Given the description of an element on the screen output the (x, y) to click on. 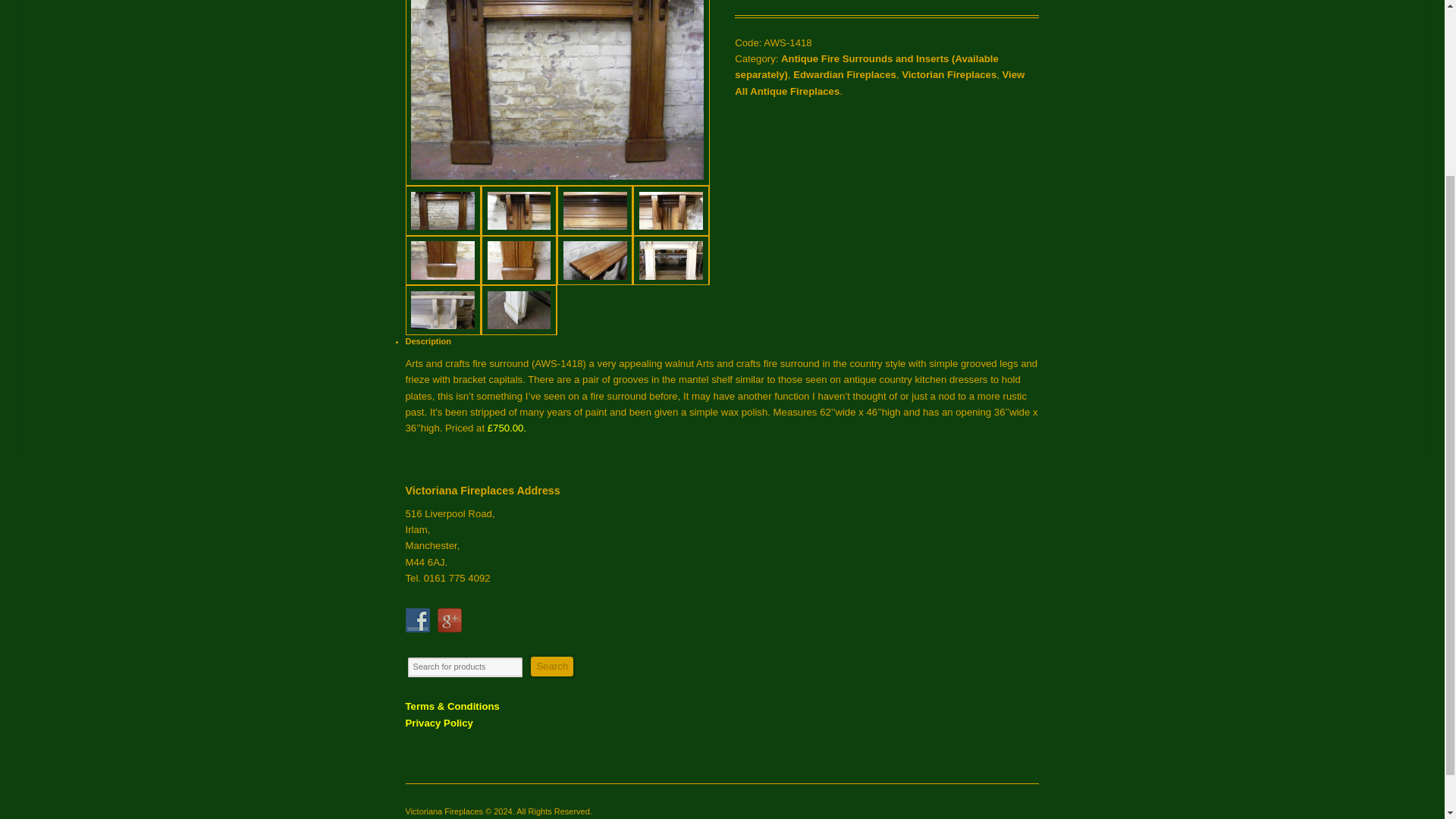
AWS-1418 (443, 210)
AWS-1418-6 (519, 260)
Search (552, 666)
 Facebook (417, 620)
View All Antique Fireplaces (880, 82)
Search (552, 666)
AWS-1418-5 (443, 260)
Description (428, 340)
AWS-1418-2 (519, 210)
Privacy Policy (439, 722)
